Given the description of an element on the screen output the (x, y) to click on. 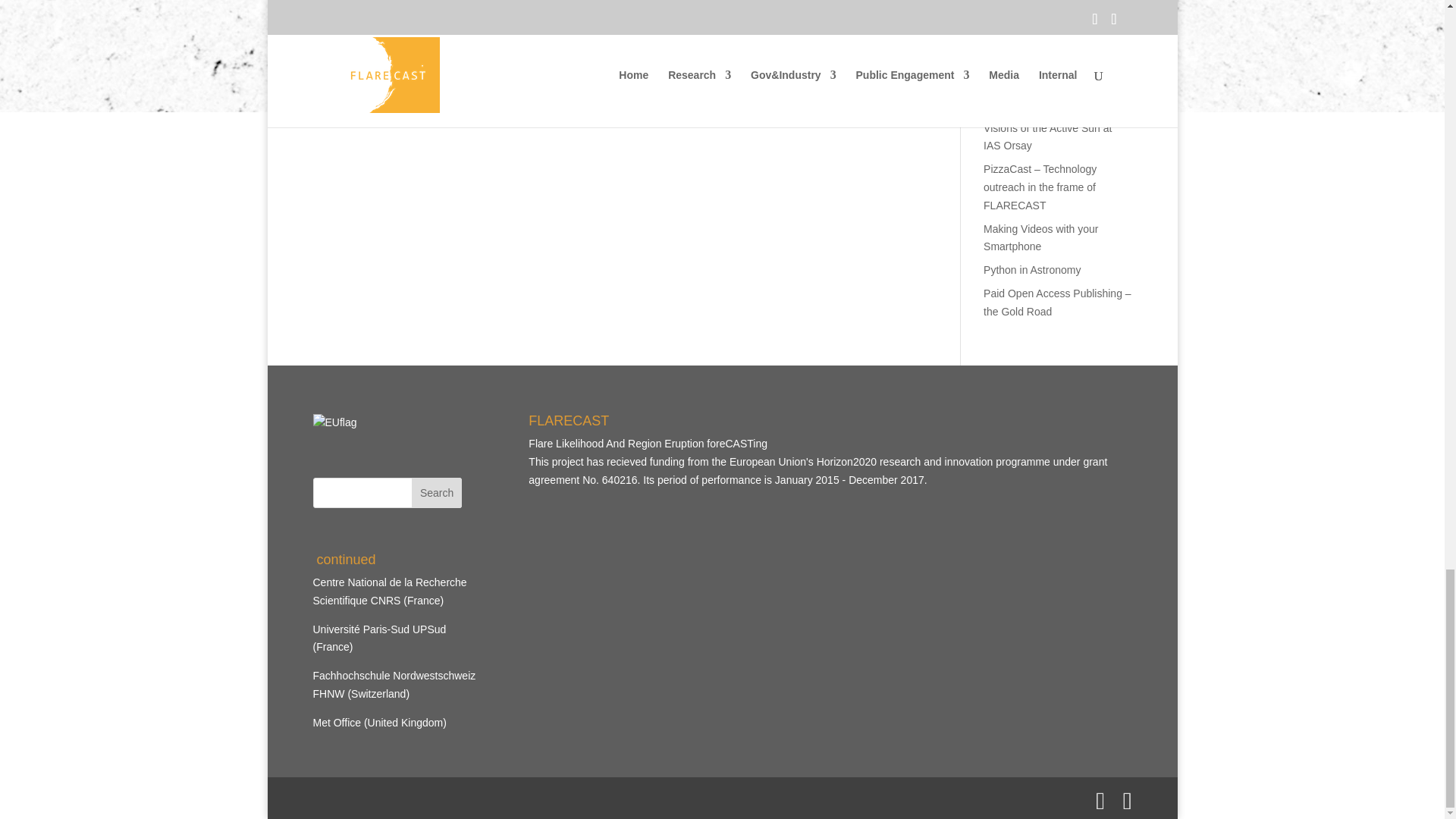
Subscribe to posts (1012, 42)
Subscribe to comments (1024, 65)
Search (436, 492)
